Given the description of an element on the screen output the (x, y) to click on. 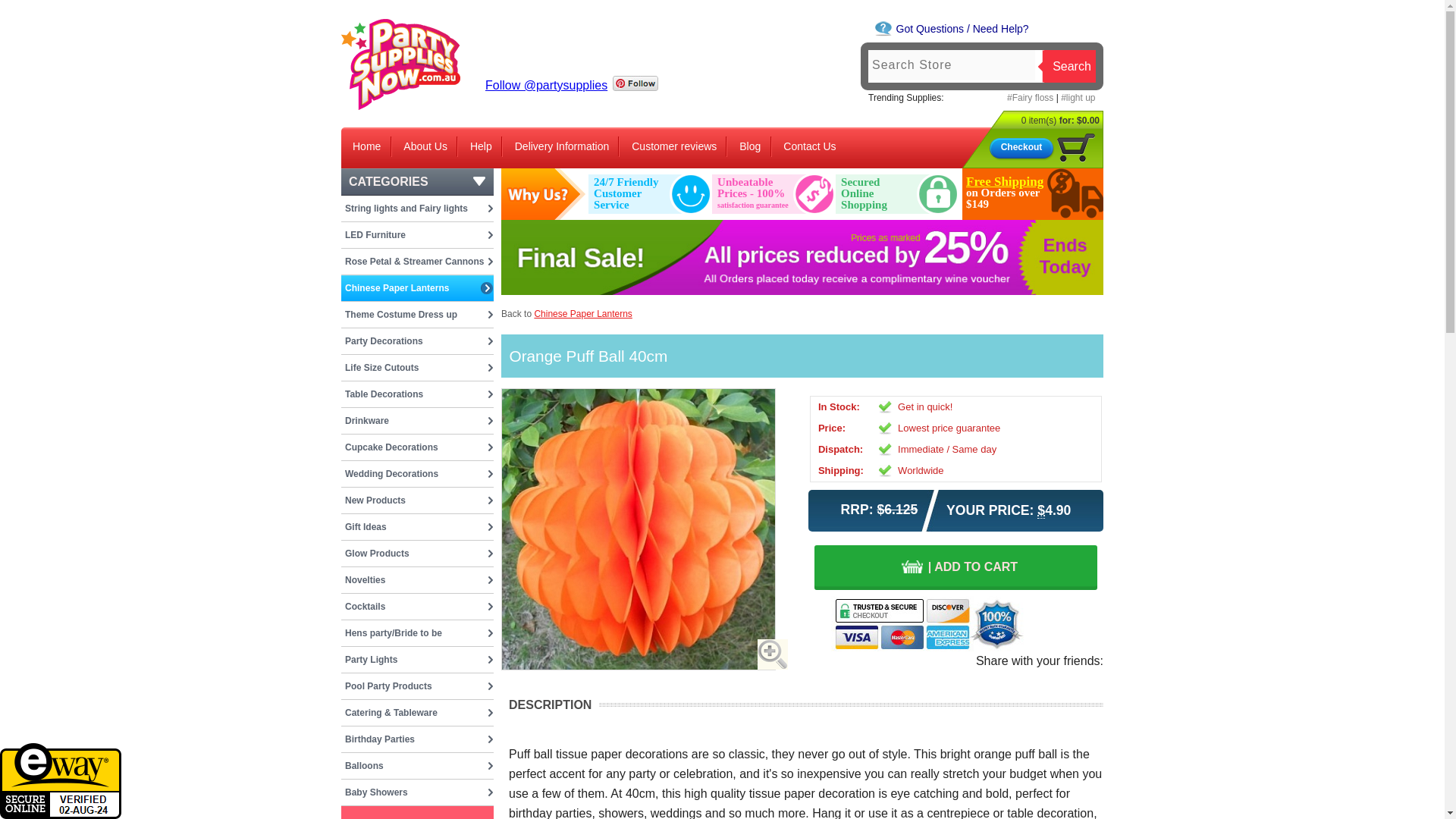
Search (1069, 65)
Drinkware (416, 420)
Theme  Costume  Dress up (416, 314)
String lights and Fairy lights (416, 208)
Chinese Paper Lanterns (416, 288)
Contact Us (809, 146)
String lights and Fairy lights (416, 208)
LED Furniture (416, 234)
Novelties (416, 579)
